Given the description of an element on the screen output the (x, y) to click on. 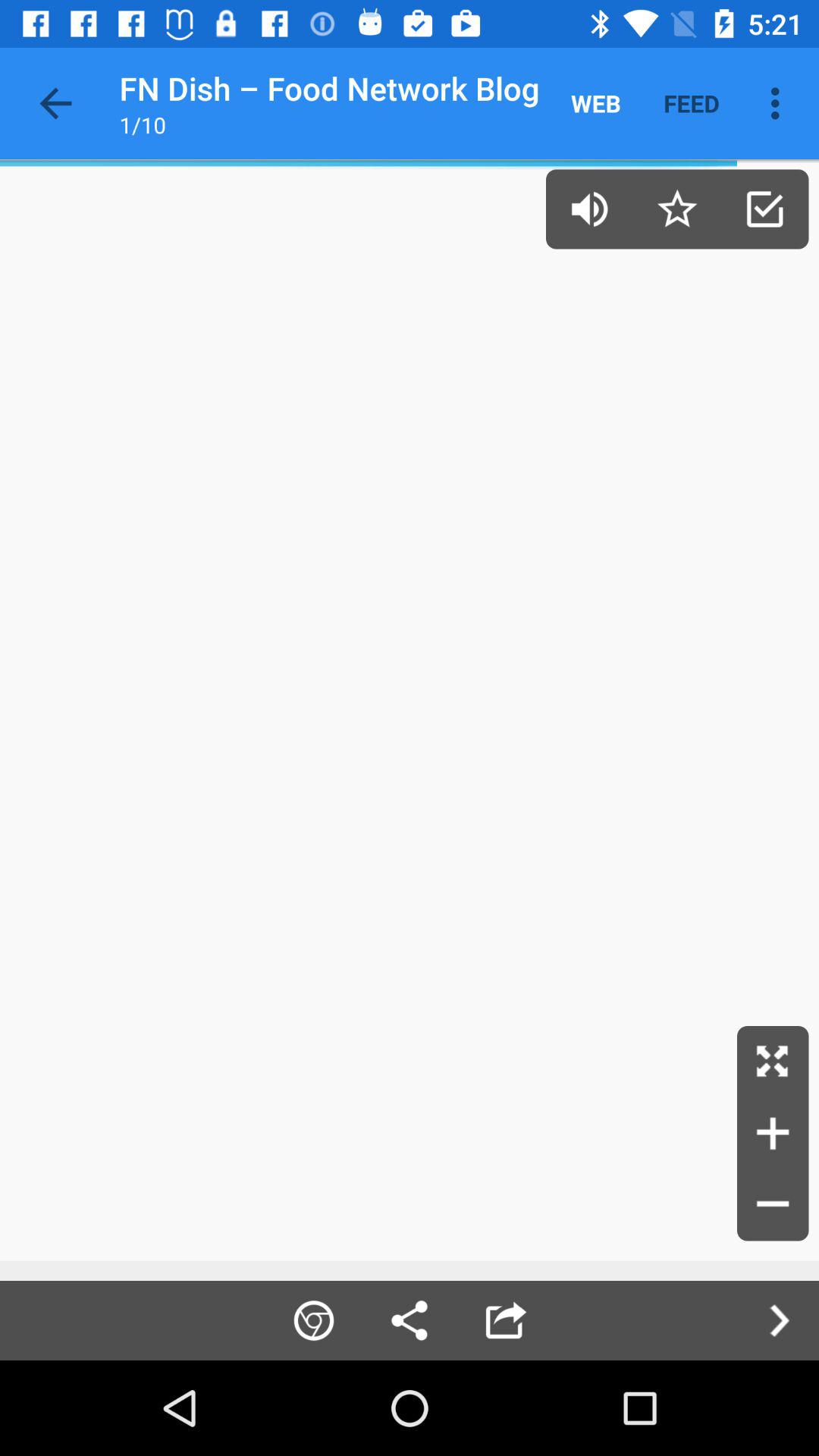
zoom out (772, 1205)
